Given the description of an element on the screen output the (x, y) to click on. 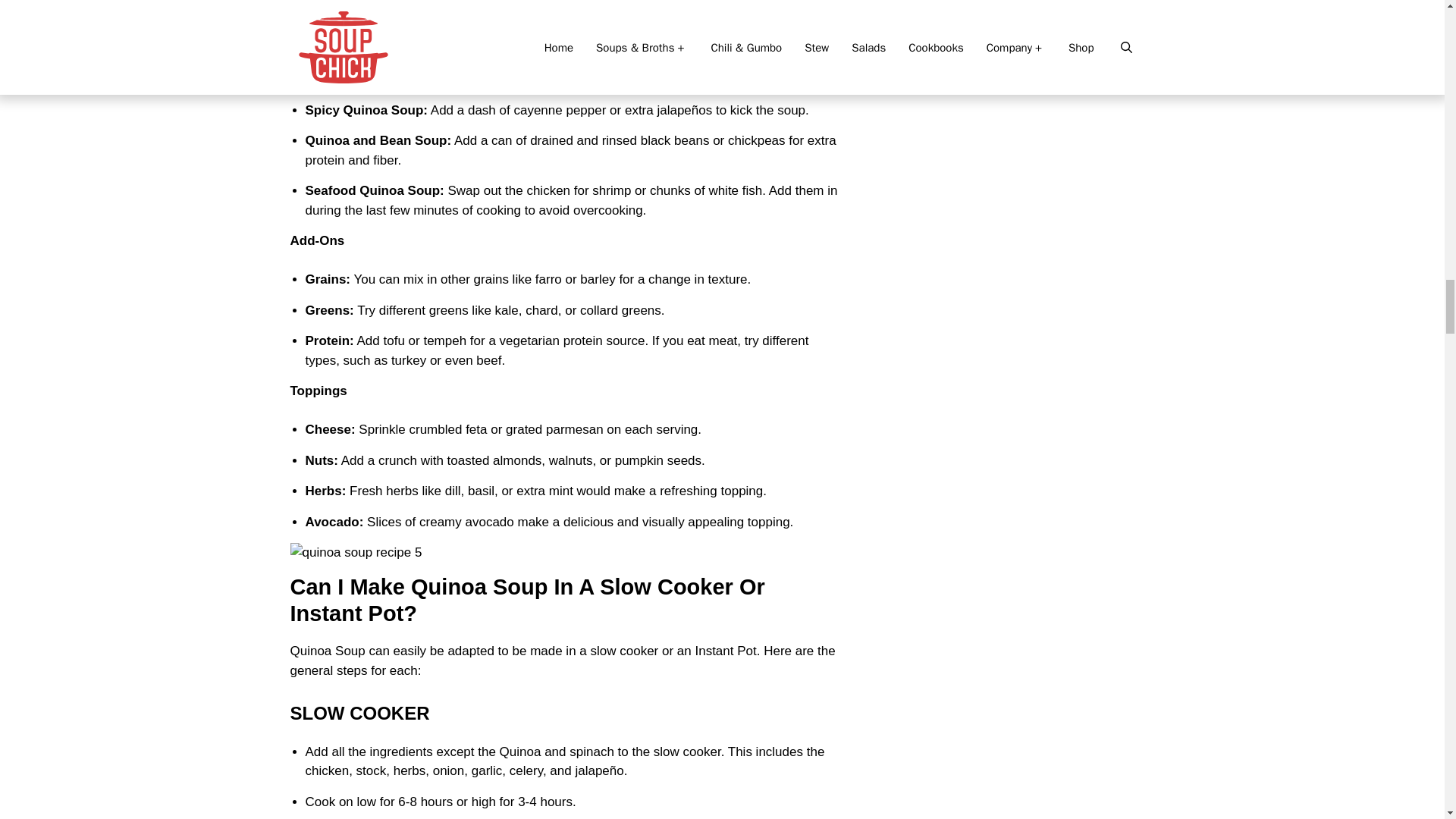
sweet potatoes (454, 79)
